Given the description of an element on the screen output the (x, y) to click on. 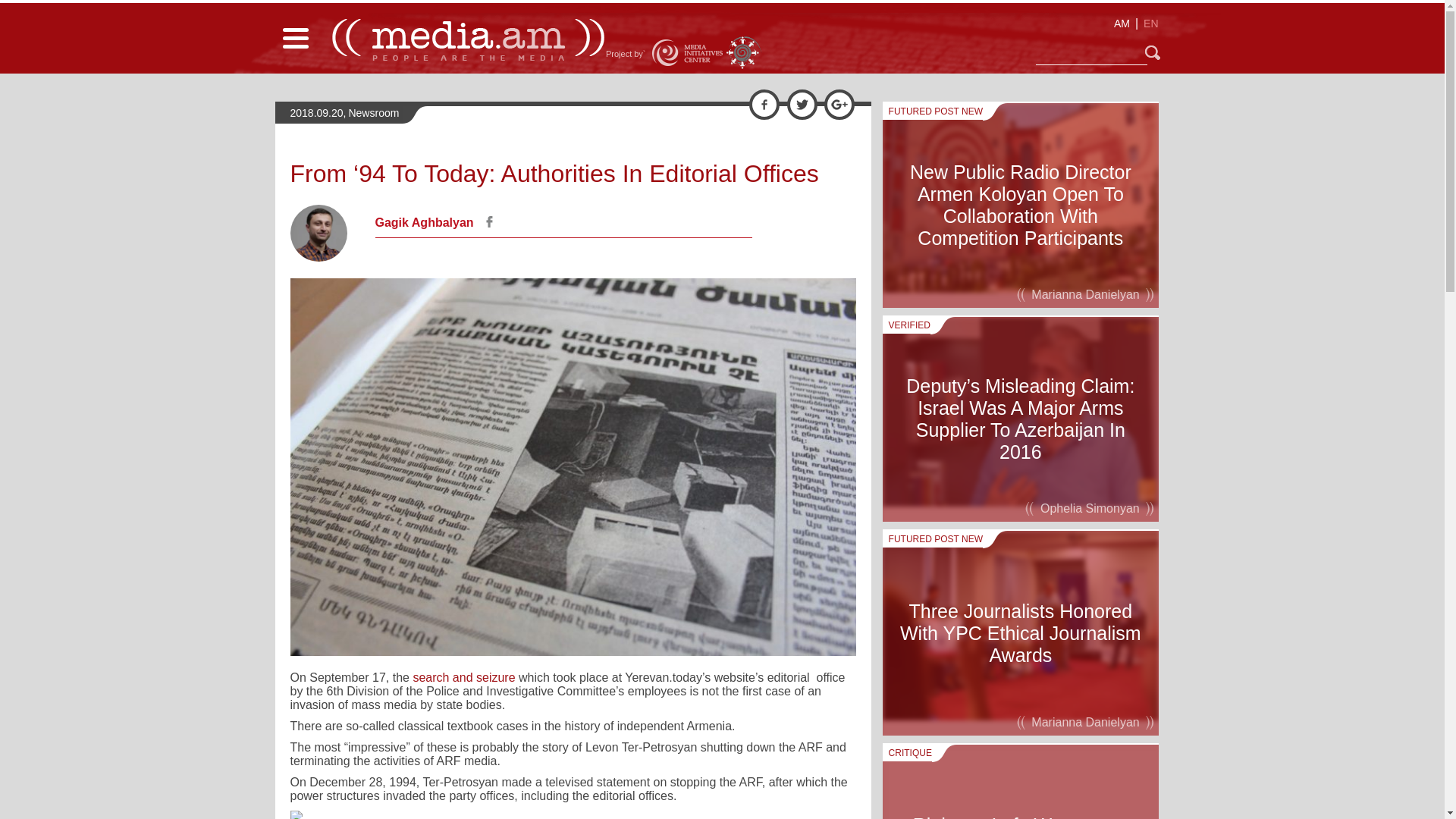
Gagik Aghbalyan (425, 222)
VERIFIED (906, 324)
Marianna Danielyan (1085, 293)
search and seizure (463, 676)
Newsroom (372, 112)
EN (1150, 23)
FUTURED POST NEW (932, 111)
Three Journalists Honored With YPC Ethical Journalism Awards (1021, 632)
FUTURED POST NEW (932, 538)
AM (1121, 23)
Ophelia Simonyan (1089, 506)
